Given the description of an element on the screen output the (x, y) to click on. 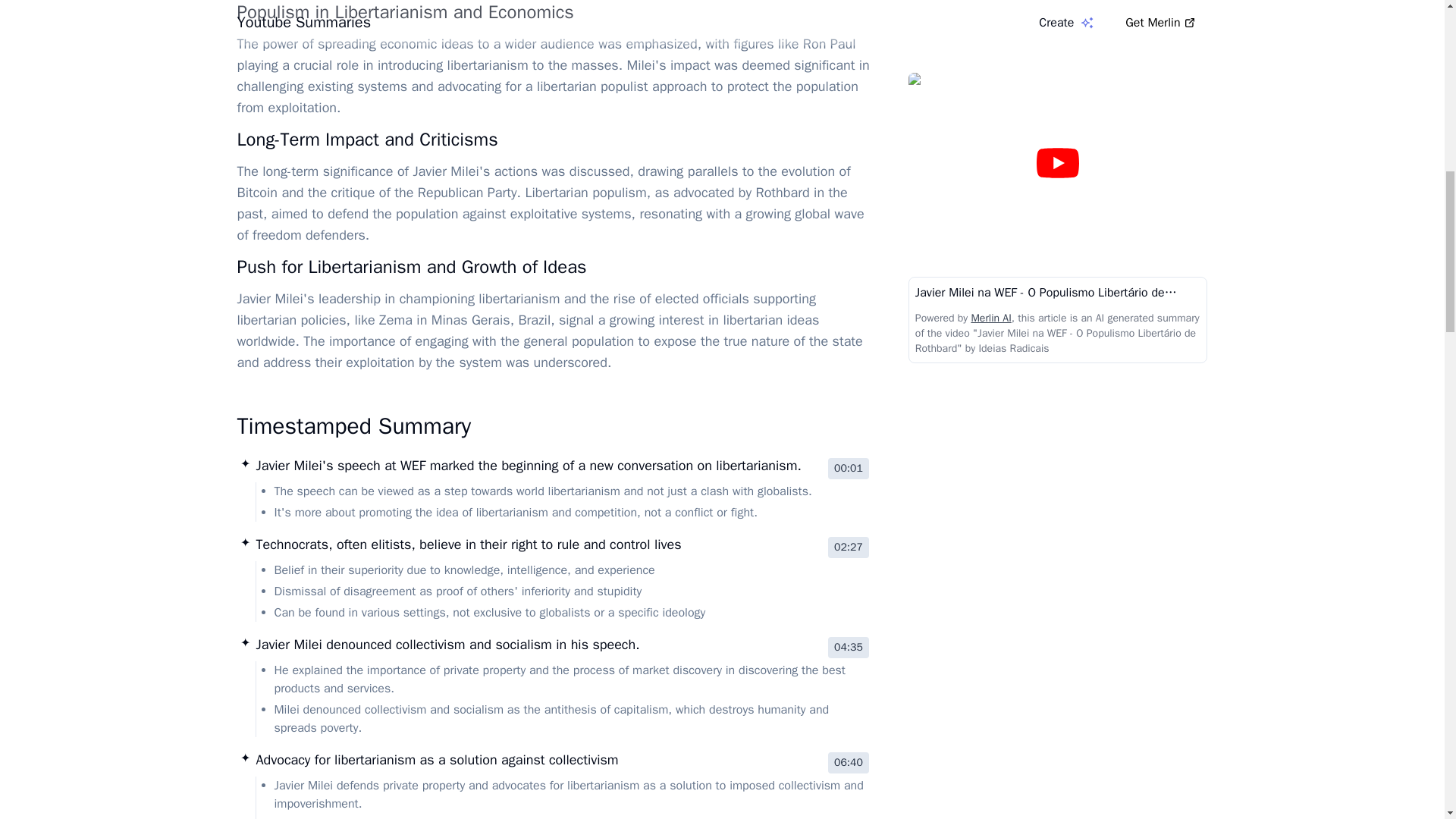
04:35 (848, 647)
06:40 (848, 762)
00:01 (848, 468)
02:27 (848, 547)
